Given the description of an element on the screen output the (x, y) to click on. 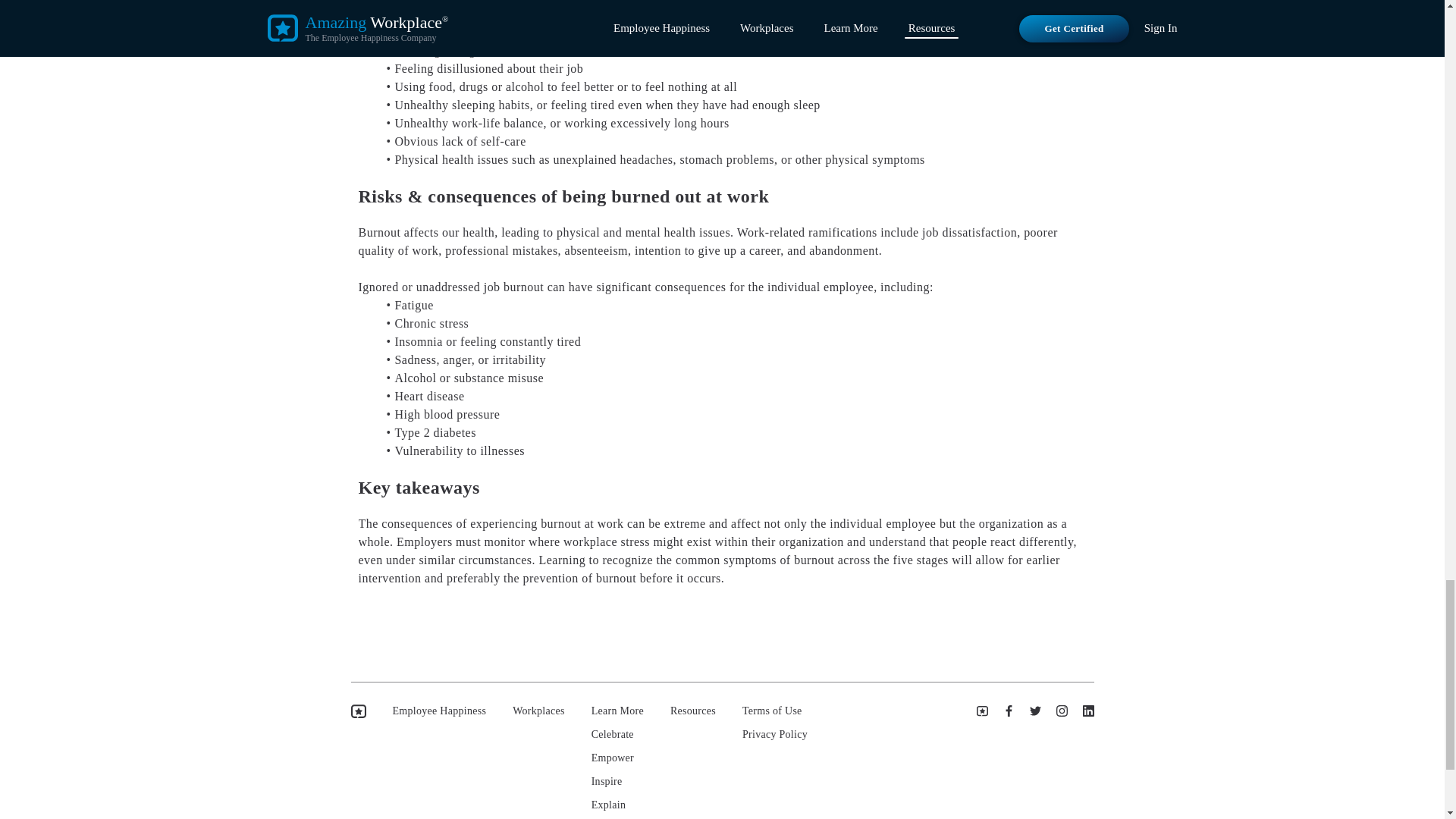
Resources (692, 711)
Explain (617, 805)
Celebrate (617, 734)
Learn More (617, 711)
Workplaces (538, 711)
Empower (617, 758)
Inspire (617, 781)
Employee Happiness (439, 711)
